Given the description of an element on the screen output the (x, y) to click on. 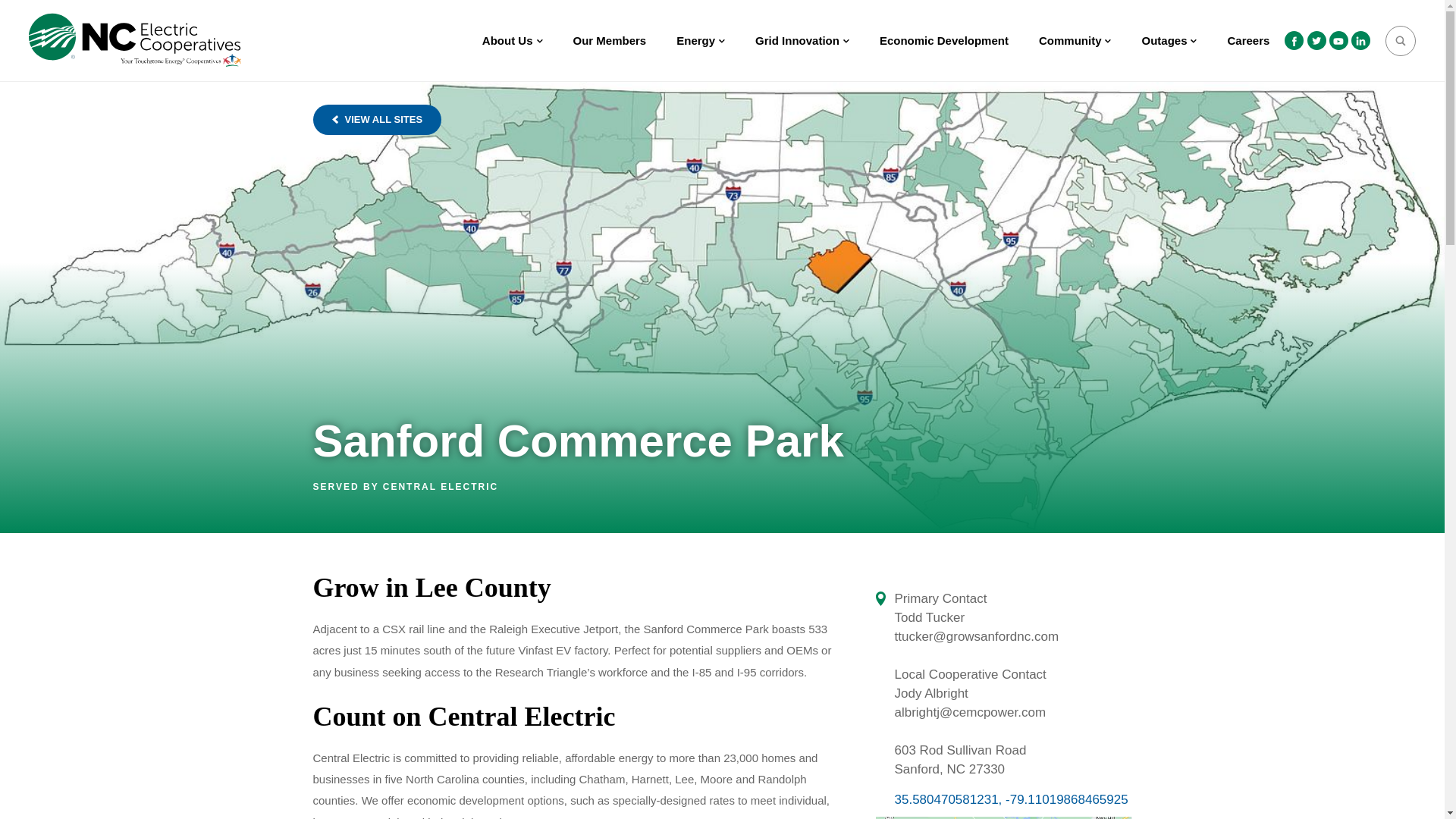
Grid Innovation (801, 40)
twitter-icon (1316, 40)
Our Members (609, 40)
Community (1074, 40)
Careers (1247, 40)
About Us (512, 40)
Economic Development (943, 40)
facebook-icon (1293, 40)
Outages (1168, 40)
youtube-icon (1338, 40)
twitter-icon (1316, 40)
facebook-icon (1294, 41)
youtube-icon (1338, 41)
Energy (700, 40)
